Given the description of an element on the screen output the (x, y) to click on. 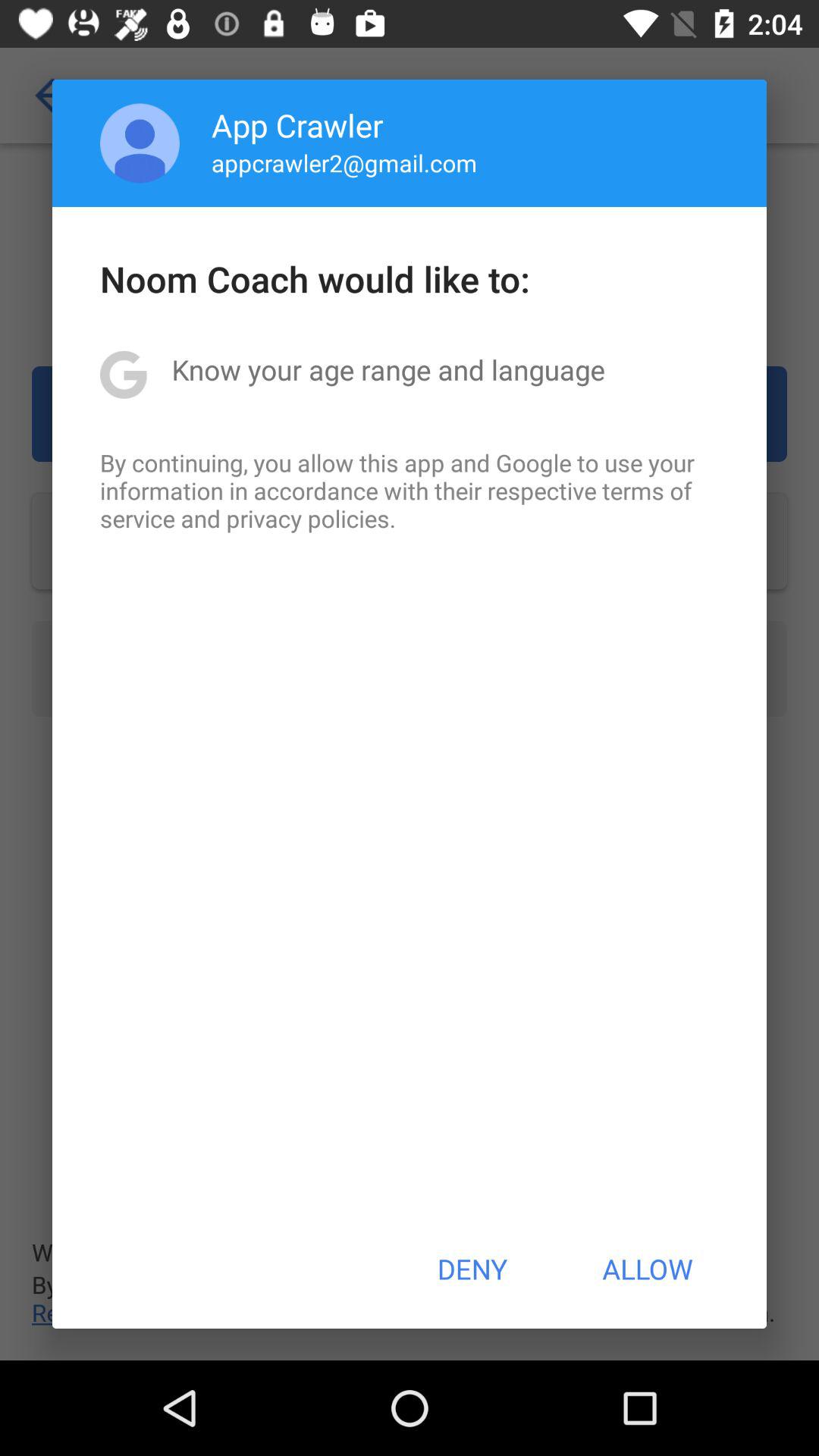
click the item at the bottom (471, 1268)
